Given the description of an element on the screen output the (x, y) to click on. 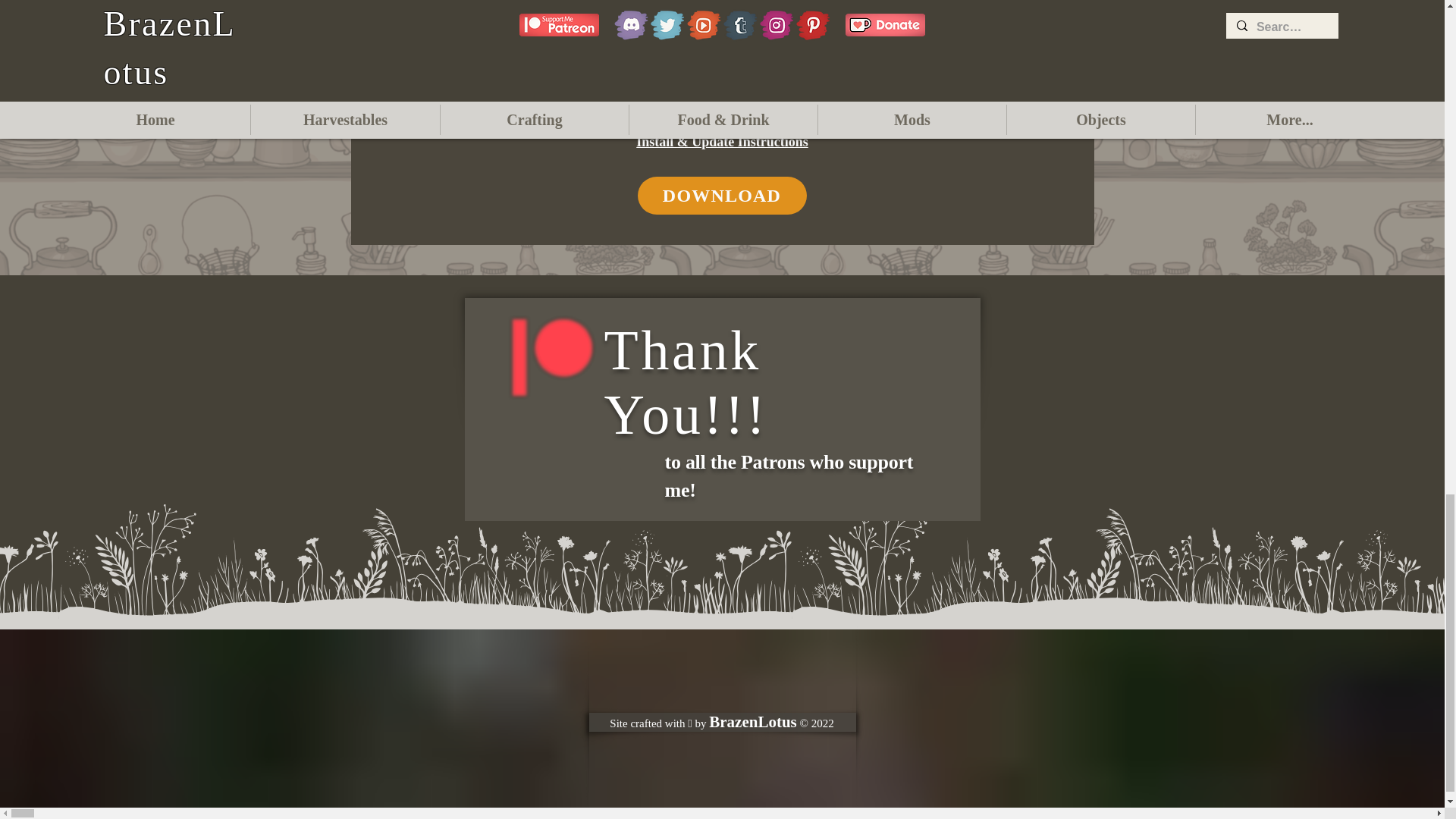
to all the Patrons who support me! (787, 475)
Thank You!!! (685, 382)
DOWNLOAD (721, 195)
